Given the description of an element on the screen output the (x, y) to click on. 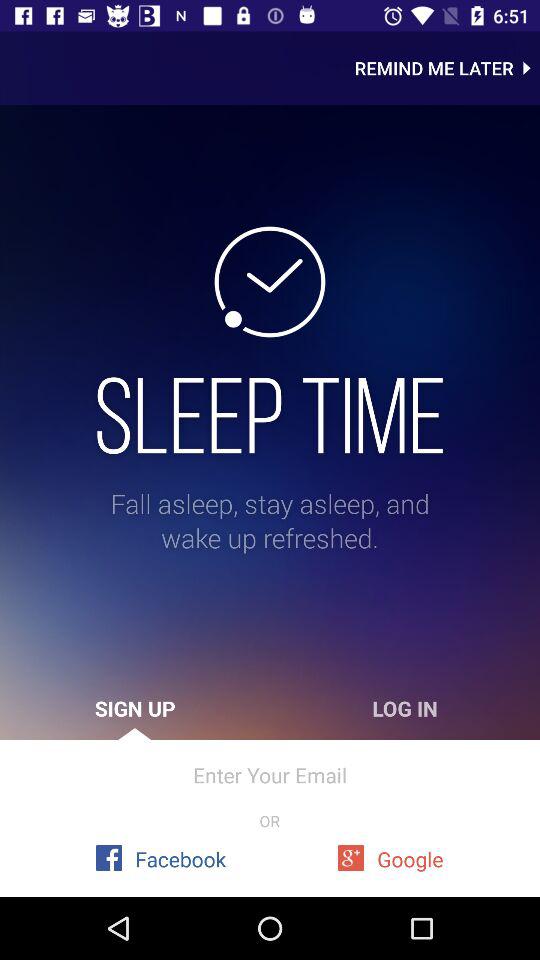
open the icon below the fall asleep stay item (135, 707)
